Given the description of an element on the screen output the (x, y) to click on. 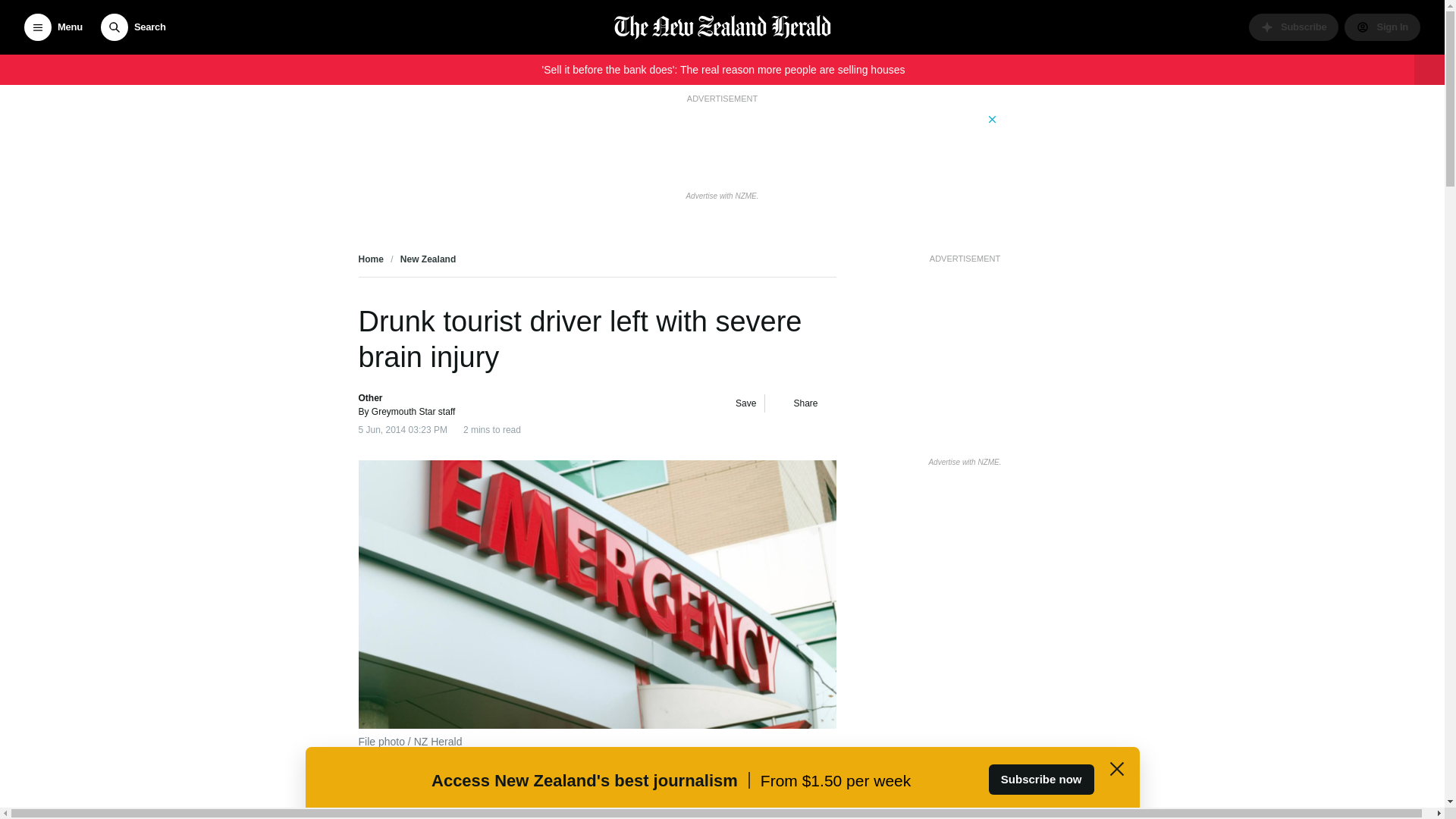
Menu (53, 26)
Search (132, 26)
Sign In (1382, 26)
Subscribe (1294, 26)
3rd party ad content (964, 361)
Manage your account (1382, 26)
3rd party ad content (721, 146)
